Given the description of an element on the screen output the (x, y) to click on. 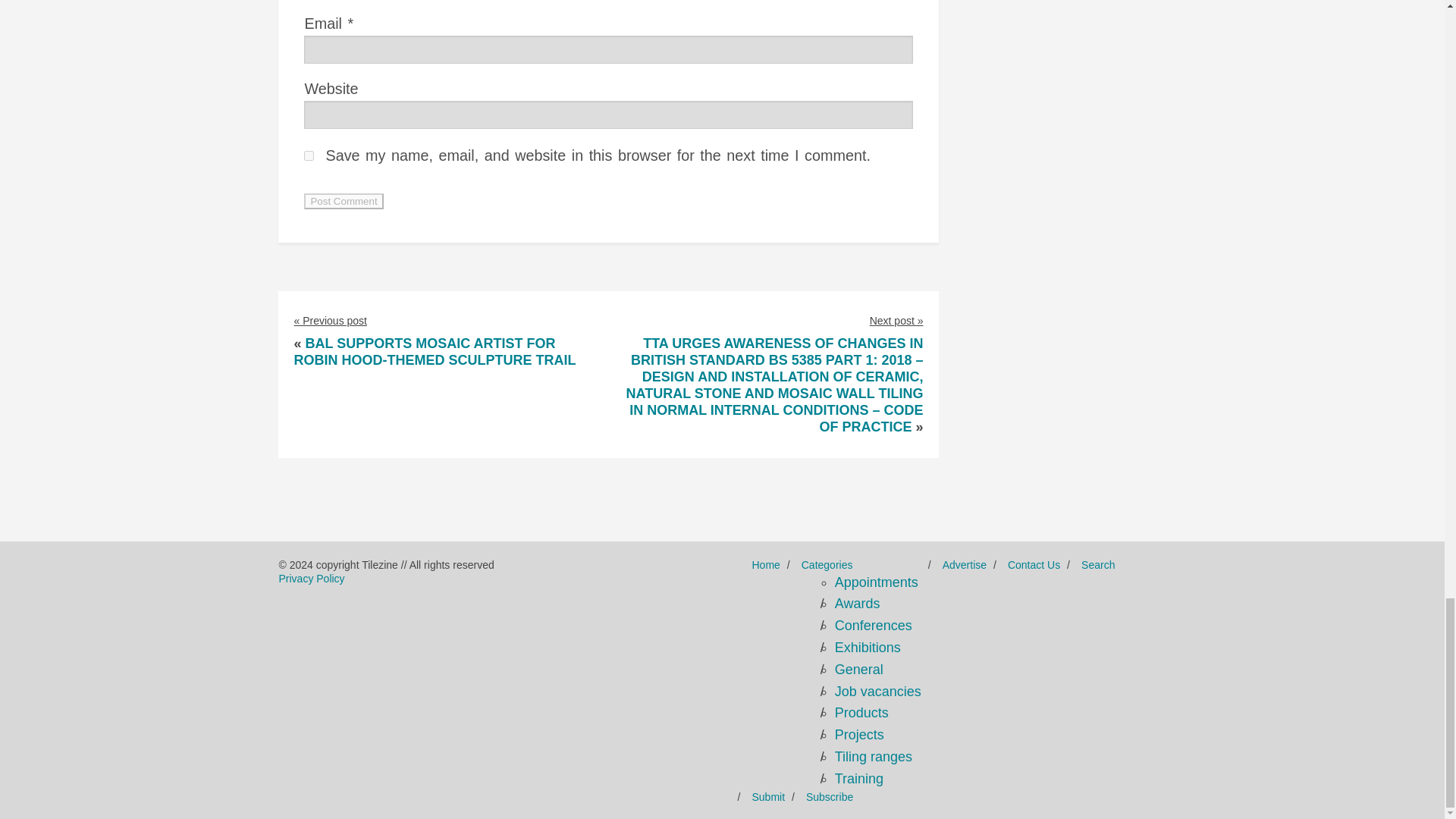
Post Comment (343, 201)
Post Comment (343, 201)
yes (309, 155)
